Given the description of an element on the screen output the (x, y) to click on. 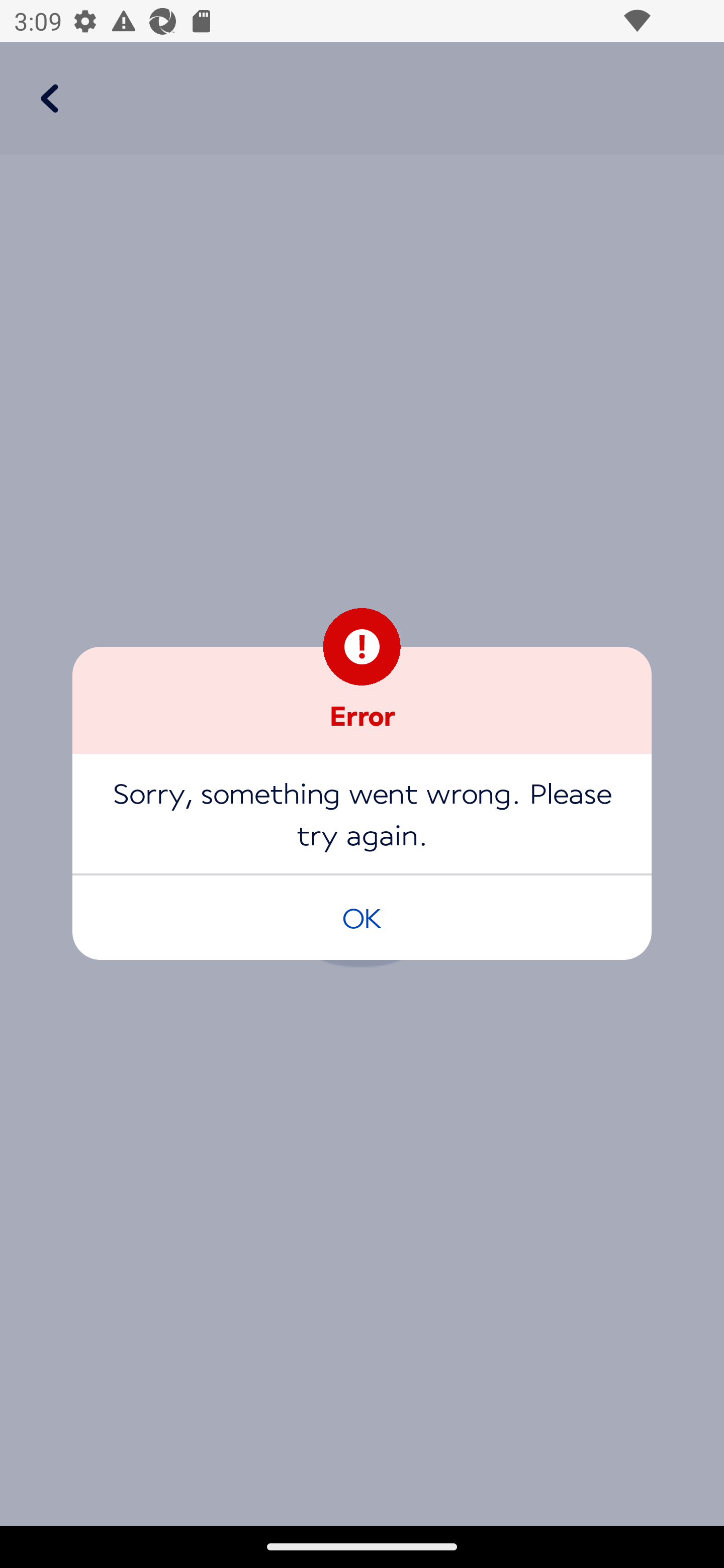
OK (361, 916)
